Given the description of an element on the screen output the (x, y) to click on. 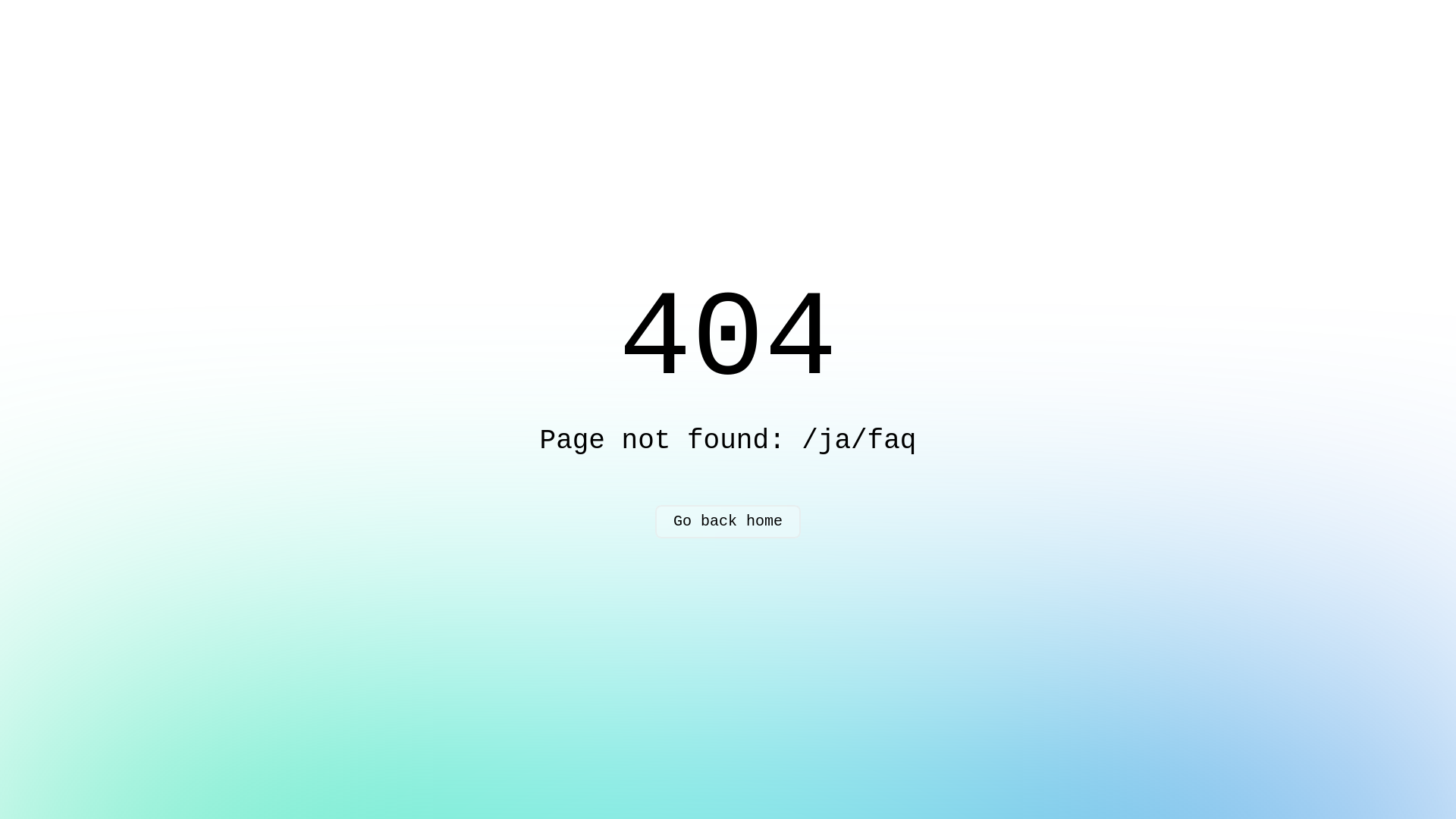
Go back home Element type: text (727, 521)
